Given the description of an element on the screen output the (x, y) to click on. 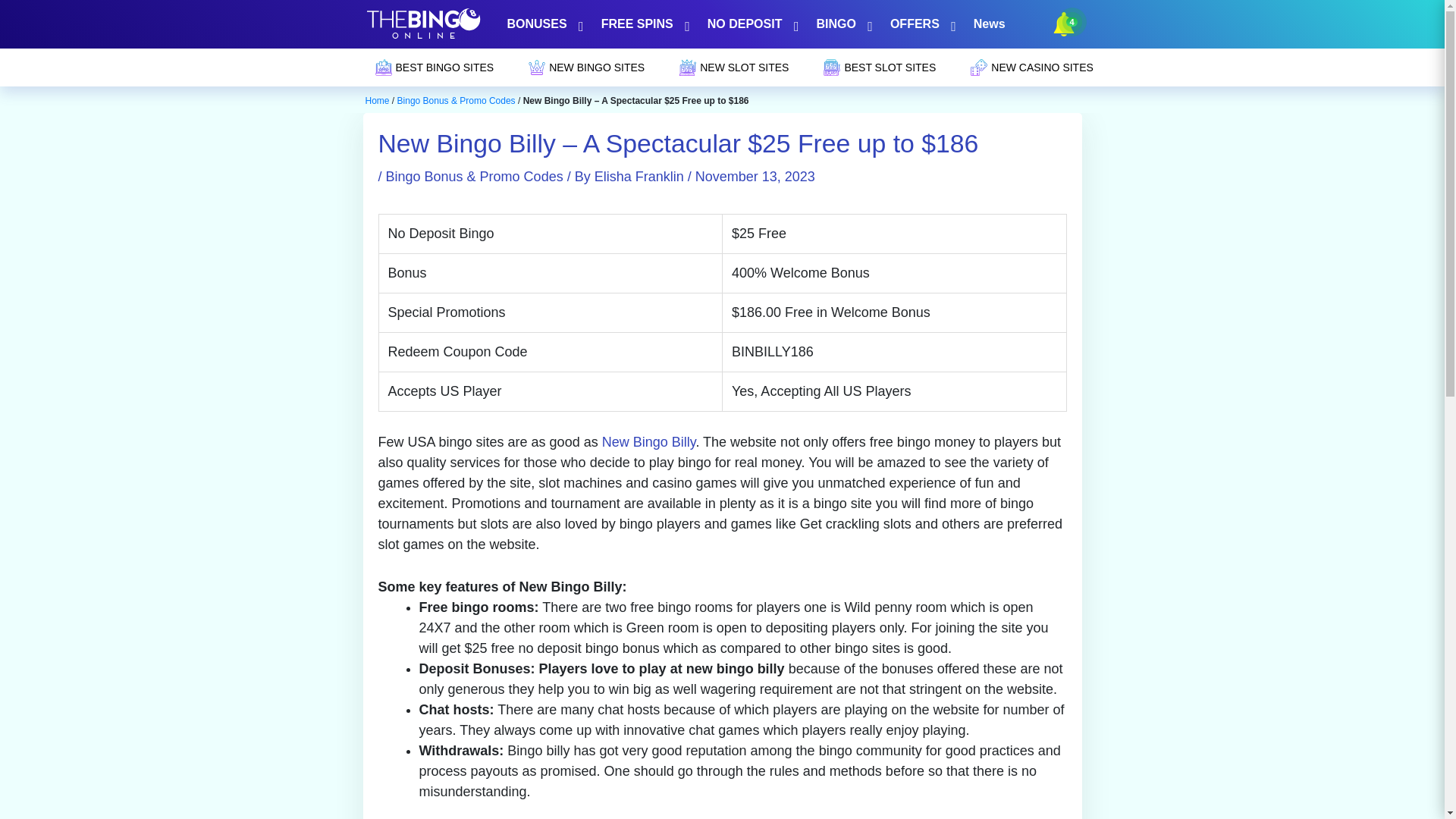
NO DEPOSIT (750, 24)
FREE SPINS (642, 24)
View all posts by Elisha Franklin (640, 176)
BONUSES (542, 24)
BINGO (841, 24)
